Given the description of an element on the screen output the (x, y) to click on. 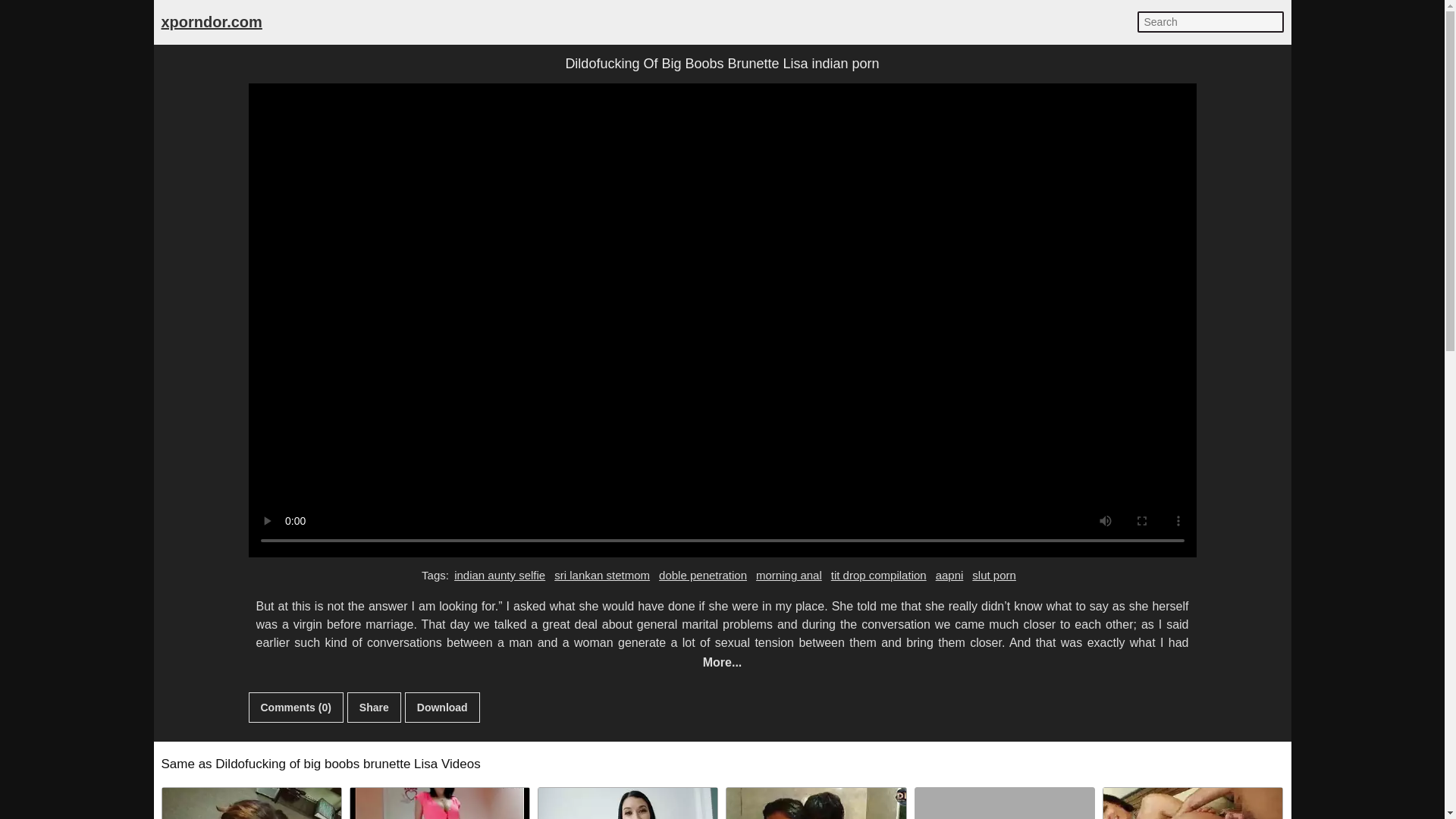
doble penetration (702, 575)
sri lankan stetmom (601, 575)
indian aunty selfie (499, 575)
Download (442, 707)
Brunette India Summer riding anally a big cock (1192, 803)
Spectacular huge boobs brunette milf shows her melons (439, 803)
Share (374, 707)
xporndor.com (211, 21)
tit drop compilation (878, 575)
slut porn (993, 575)
morning anal (789, 575)
aapni (949, 575)
Big boobs house wife sex clip playing with big cock (1004, 803)
Big Booty Brunette Beauty Is a Cock Lover (627, 803)
